Given the description of an element on the screen output the (x, y) to click on. 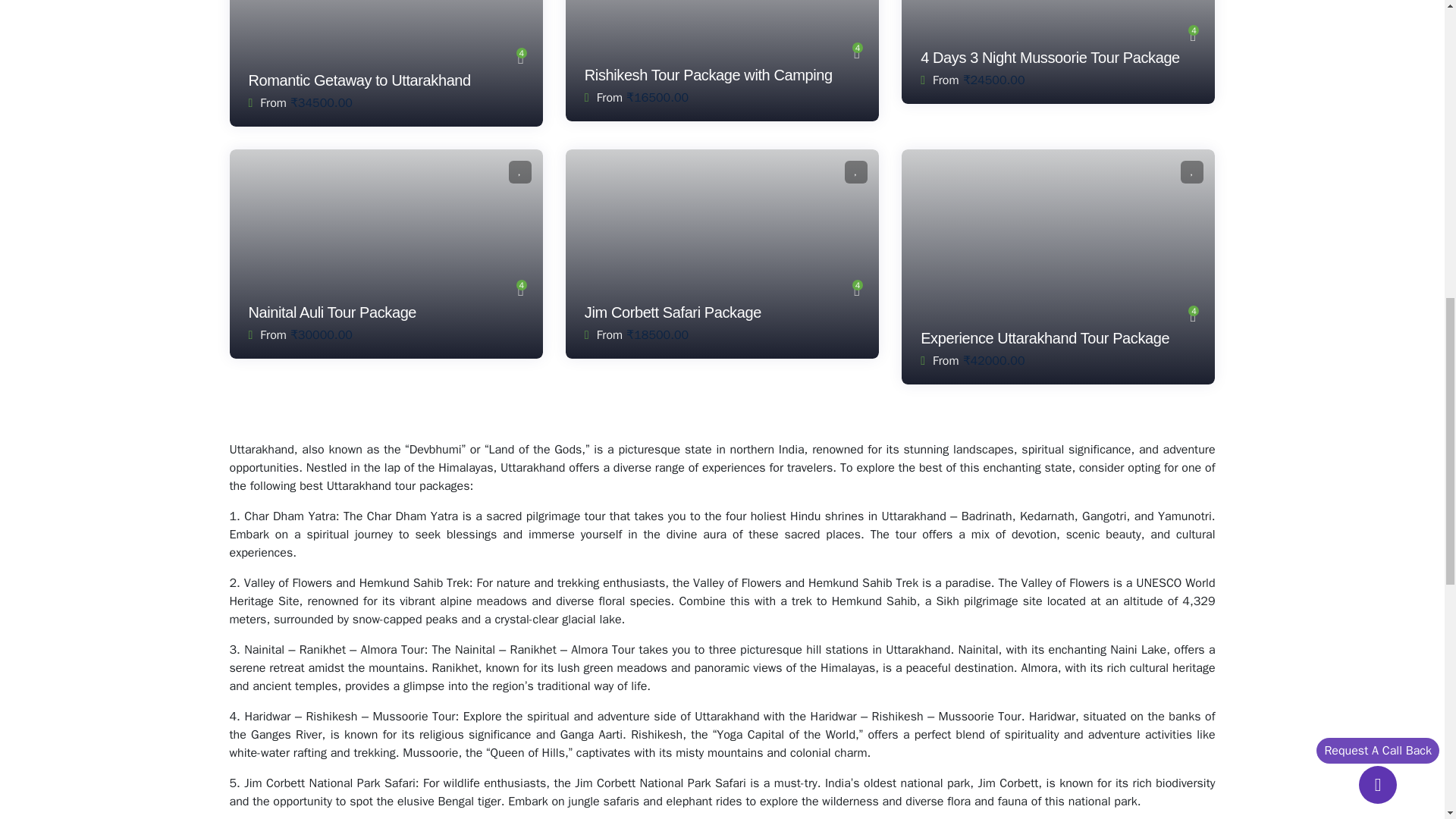
Wishlist (1192, 171)
Wishlist (519, 171)
Wishlist (855, 171)
